Given the description of an element on the screen output the (x, y) to click on. 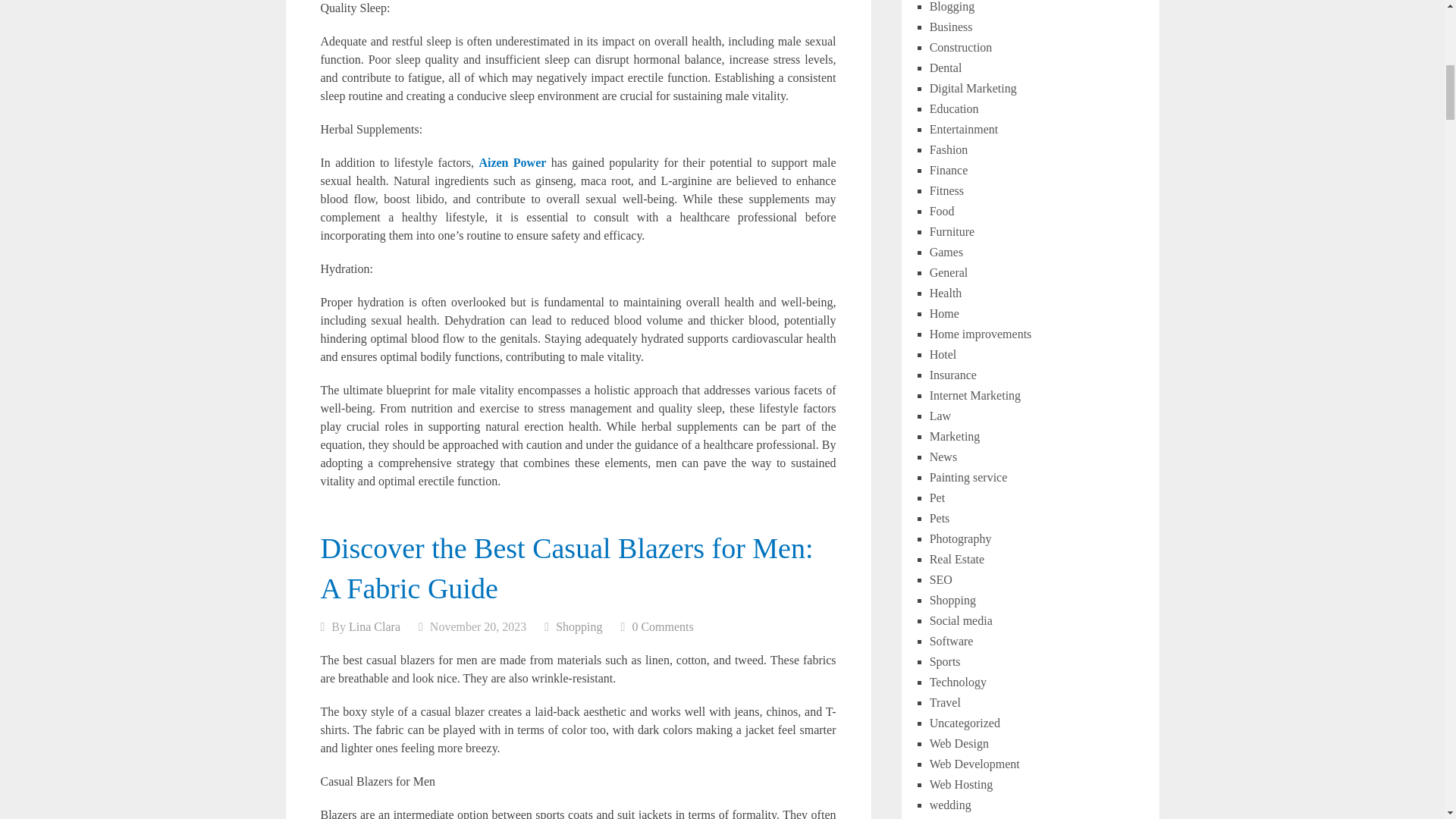
Shopping (579, 626)
Lina Clara (374, 626)
Aizen Power (512, 162)
Discover the Best Casual Blazers for Men: A Fabric Guide (566, 568)
0 Comments (662, 626)
Discover the Best Casual Blazers for Men: A Fabric Guide (566, 568)
Posts by Lina Clara (374, 626)
